Given the description of an element on the screen output the (x, y) to click on. 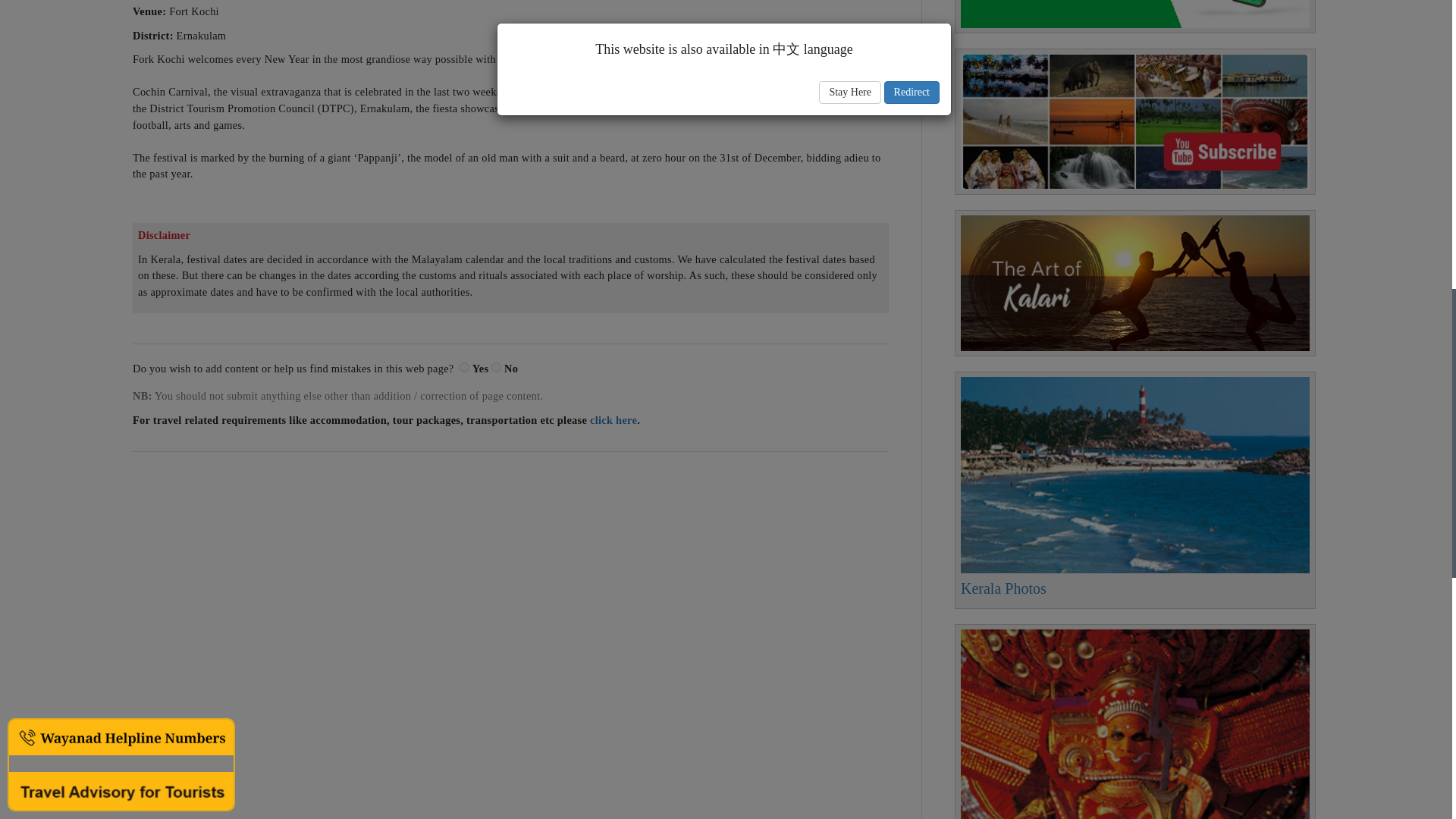
Download Mobile App (1134, 13)
Subscribe YouTube Channel (1134, 121)
Yes (464, 367)
Kalaripayattu (1134, 283)
No (496, 367)
